Given the description of an element on the screen output the (x, y) to click on. 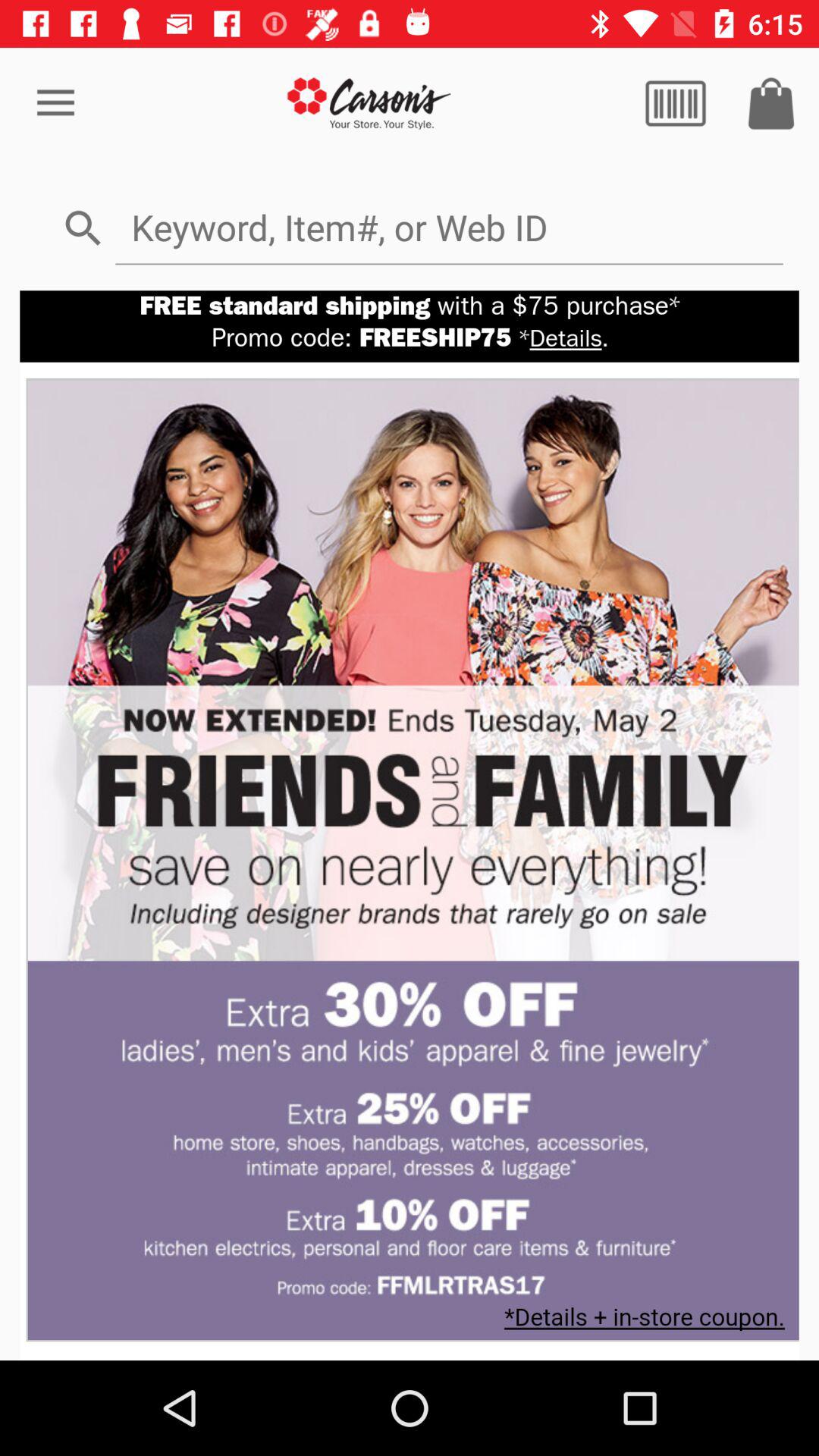
shows the menu option (675, 103)
